Given the description of an element on the screen output the (x, y) to click on. 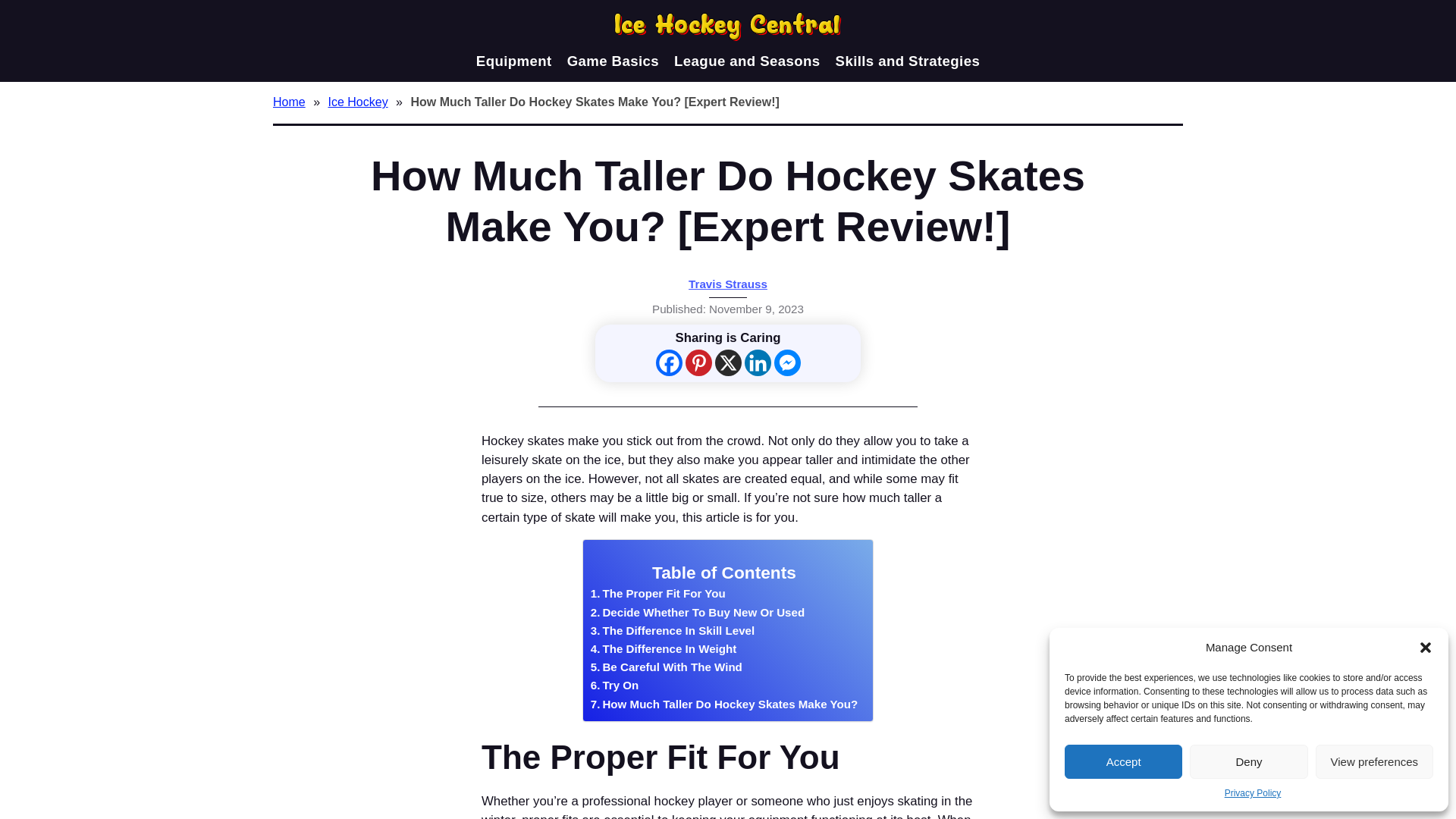
The Proper Fit For You (658, 593)
Travis Strauss (727, 283)
Equipment (513, 61)
Accept (1123, 761)
How Much Taller Do Hockey Skates Make You? (724, 704)
The Difference In Skill Level (672, 630)
Linkedin (757, 362)
Decide Whether To Buy New Or Used (698, 612)
View preferences (1374, 761)
Facebook (668, 362)
